Given the description of an element on the screen output the (x, y) to click on. 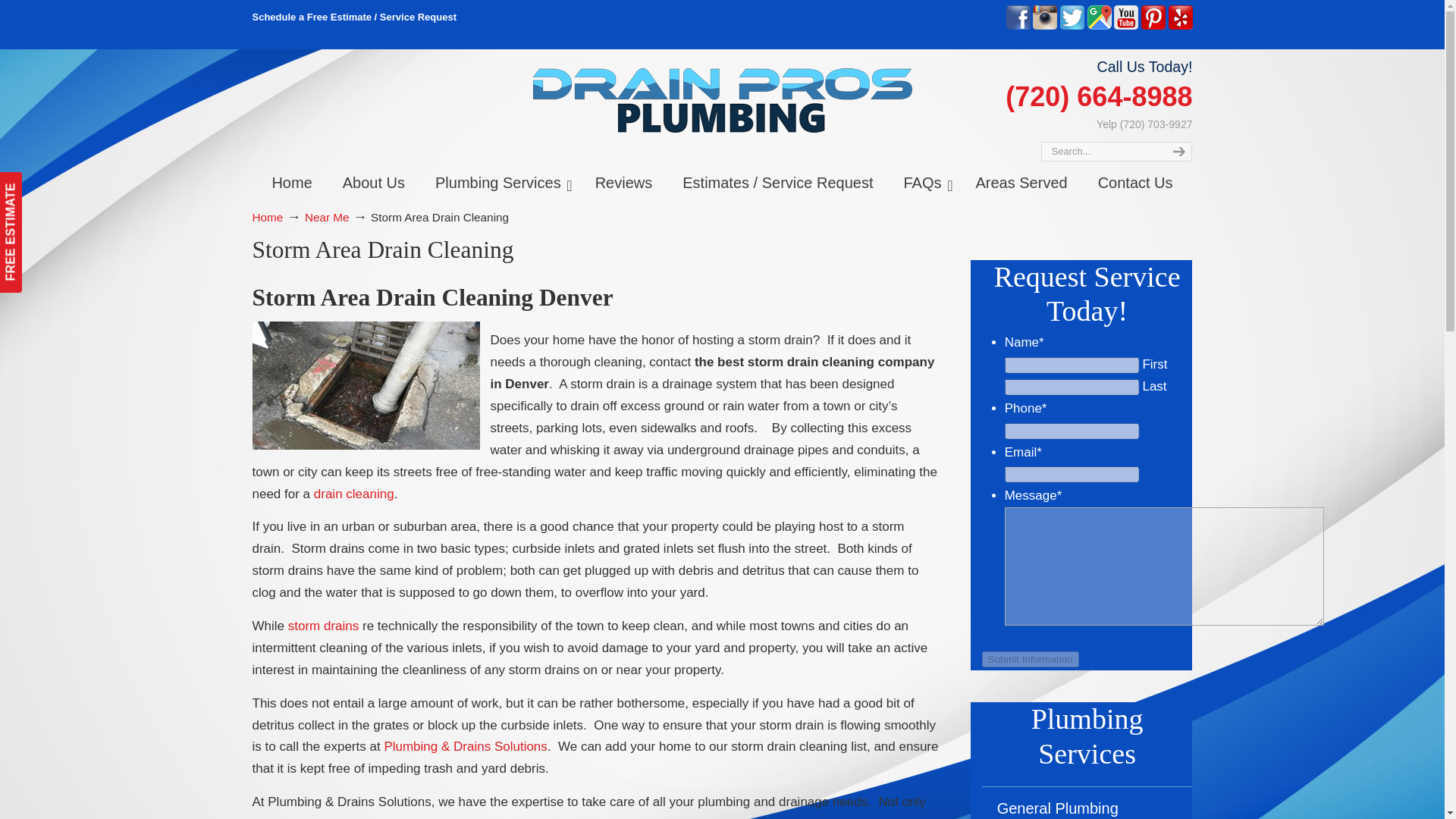
YouTube (1125, 25)
About Us (373, 182)
Home (291, 182)
Free Estimate (354, 16)
Reviews (623, 182)
FAQs (923, 182)
Search... (1100, 151)
search (1176, 151)
search (1176, 151)
FREE ESTIMATE (59, 182)
